Given the description of an element on the screen output the (x, y) to click on. 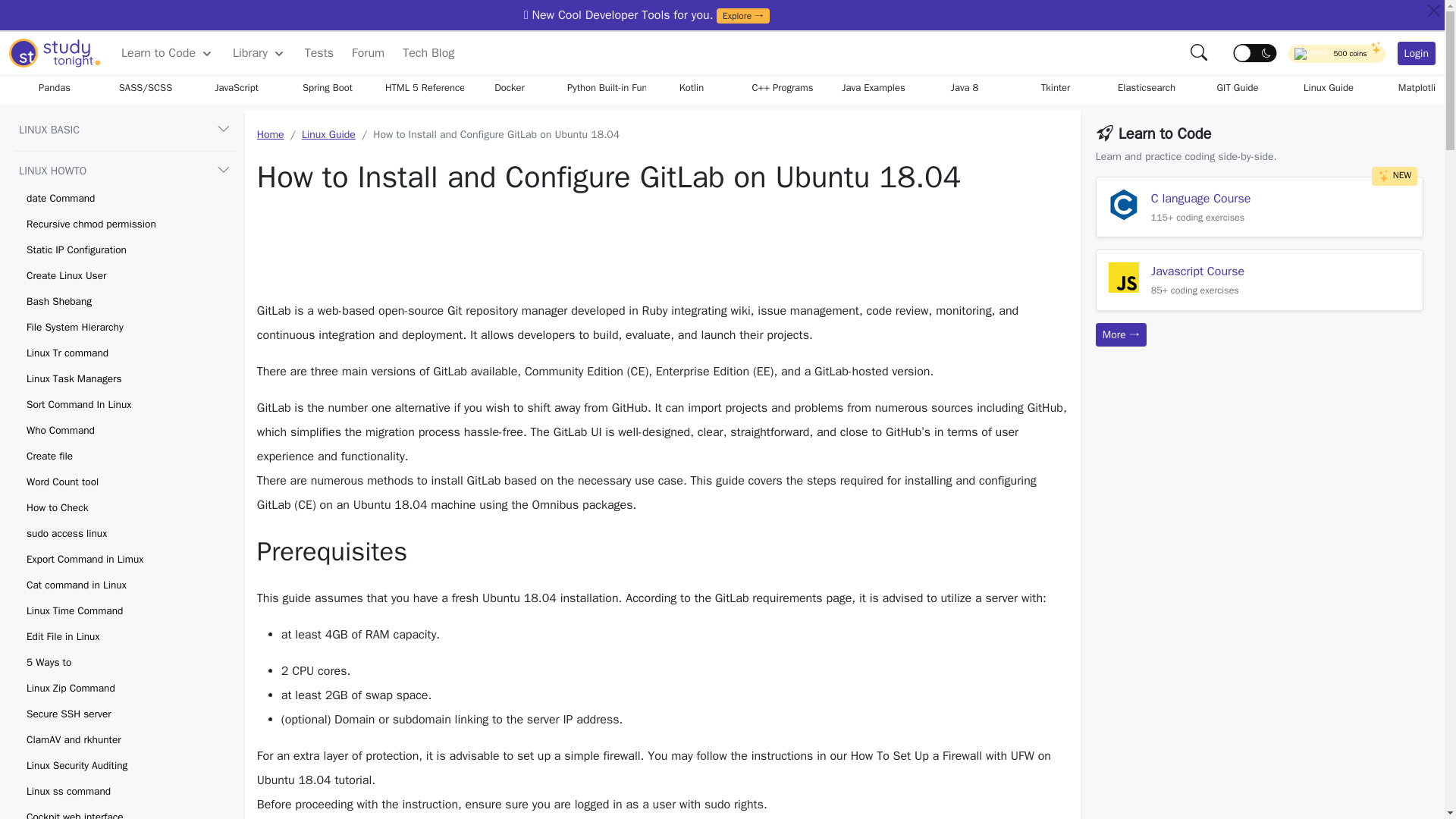
Java Examples (873, 87)
Search Studytonight (1200, 52)
Spring Boot (327, 87)
JavaScript (236, 87)
Linux Guide (1328, 87)
HTML 5 References (418, 87)
GIT Guide (1237, 87)
Docker (509, 87)
Java 8 (964, 87)
Tkinter (1055, 87)
